Given the description of an element on the screen output the (x, y) to click on. 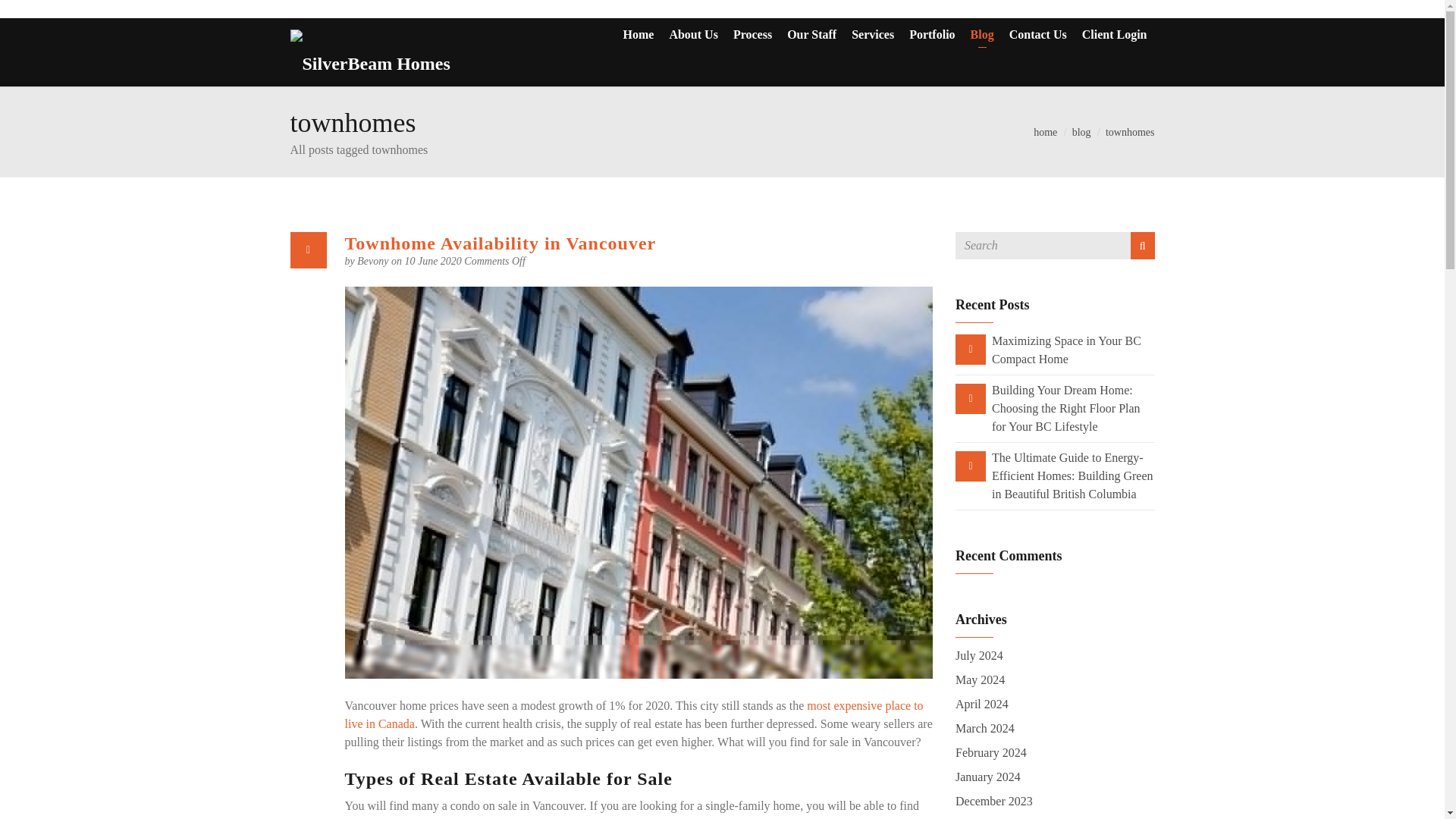
Maximizing Space in Your BC Compact Home (1066, 349)
Maximizing Space in Your BC Compact Home (1066, 349)
Services (872, 34)
December 2023 (993, 800)
Contact Us (1037, 34)
January 2024 (987, 776)
Townhome Availability in Vancouver (499, 243)
About Us (693, 34)
